Given the description of an element on the screen output the (x, y) to click on. 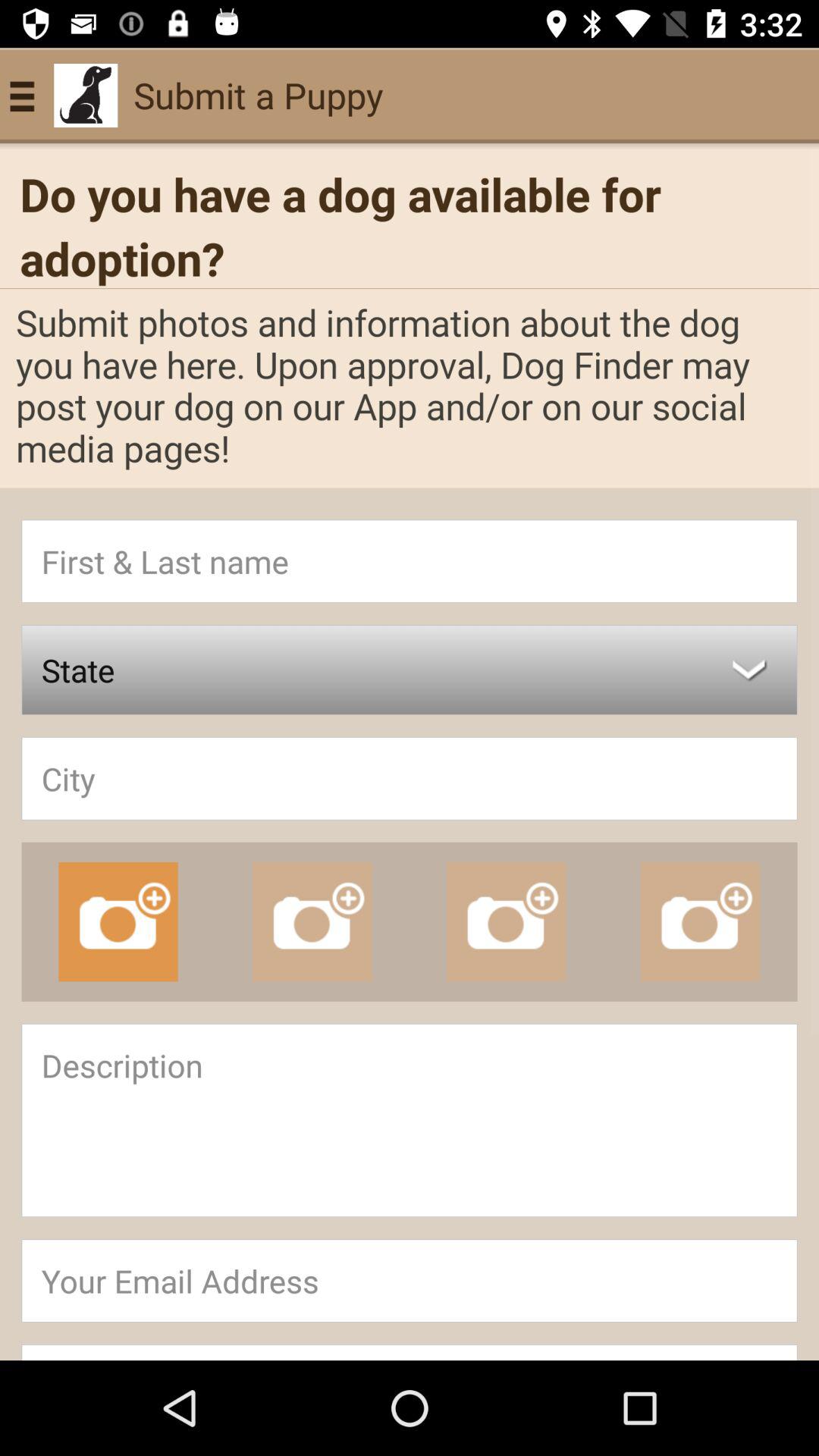
launch the state (409, 669)
